Given the description of an element on the screen output the (x, y) to click on. 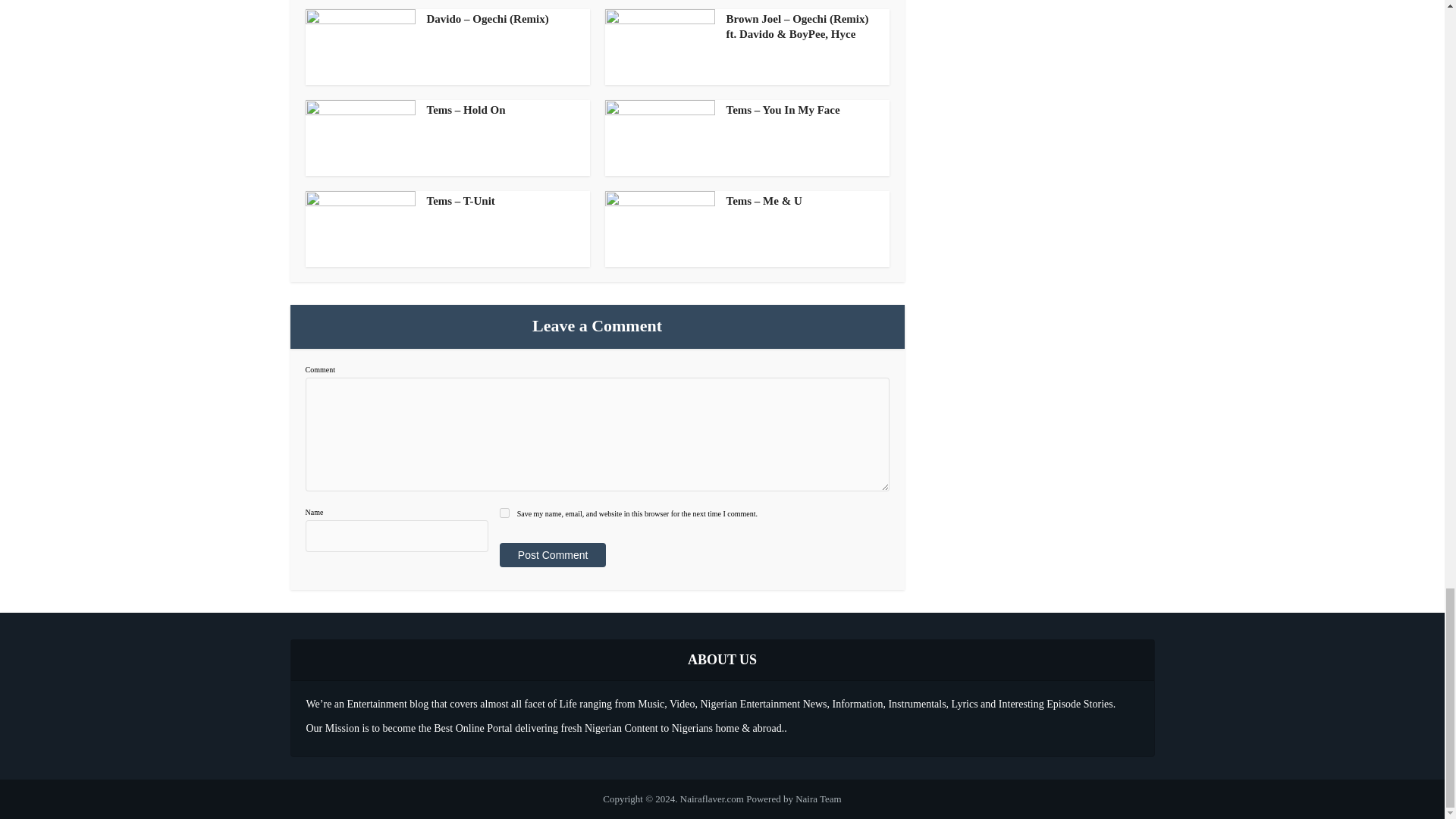
yes (504, 512)
Post Comment (552, 554)
